Given the description of an element on the screen output the (x, y) to click on. 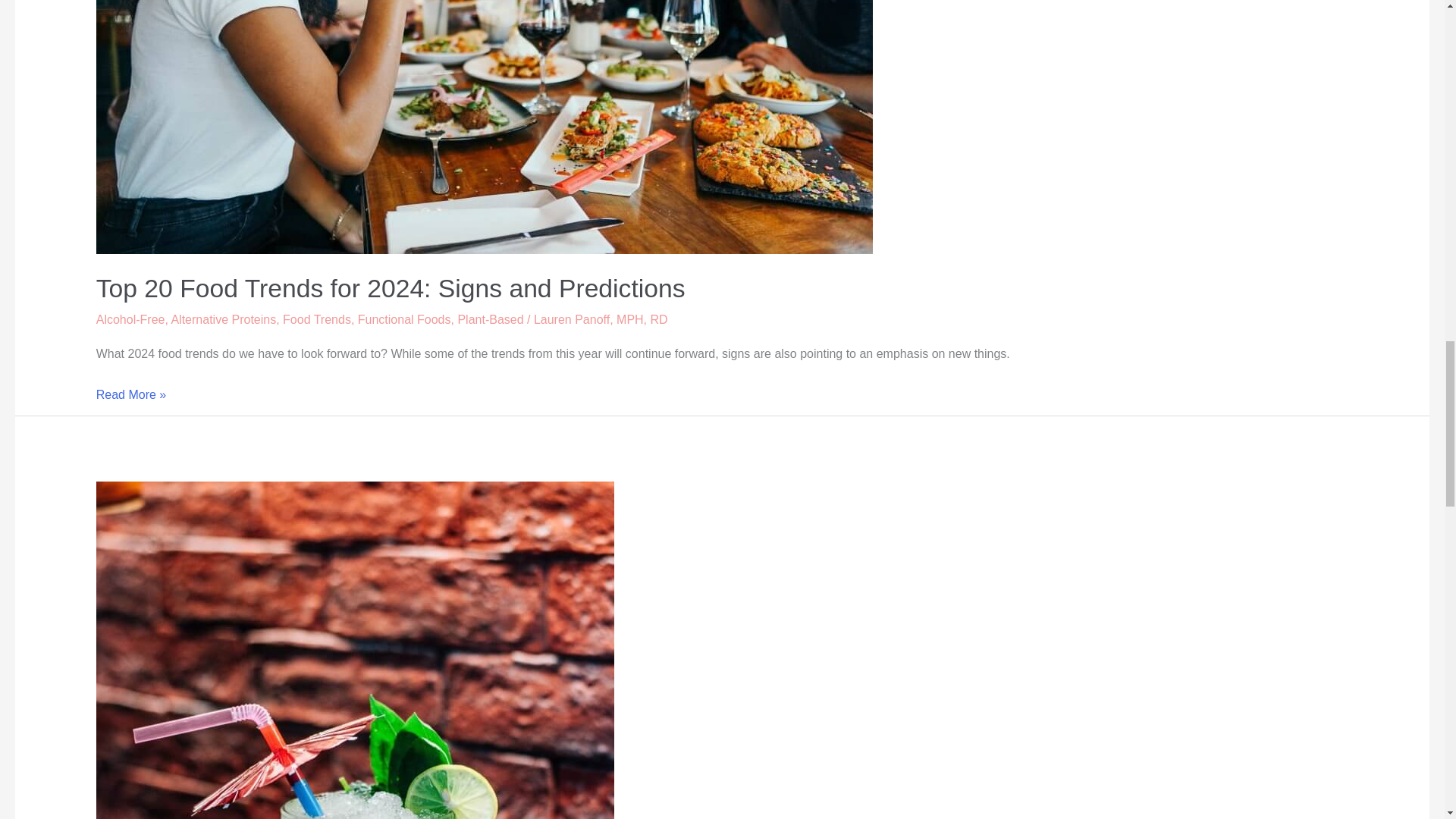
Lauren Panoff, MPH, RD (601, 318)
Alternative Proteins (223, 318)
Functional Foods (404, 318)
View all posts by Lauren Panoff, MPH, RD (601, 318)
Top 20 Food Trends for 2024: Signs and Predictions (390, 288)
Alcohol-Free (130, 318)
Food Trends (316, 318)
Plant-Based (489, 318)
